Given the description of an element on the screen output the (x, y) to click on. 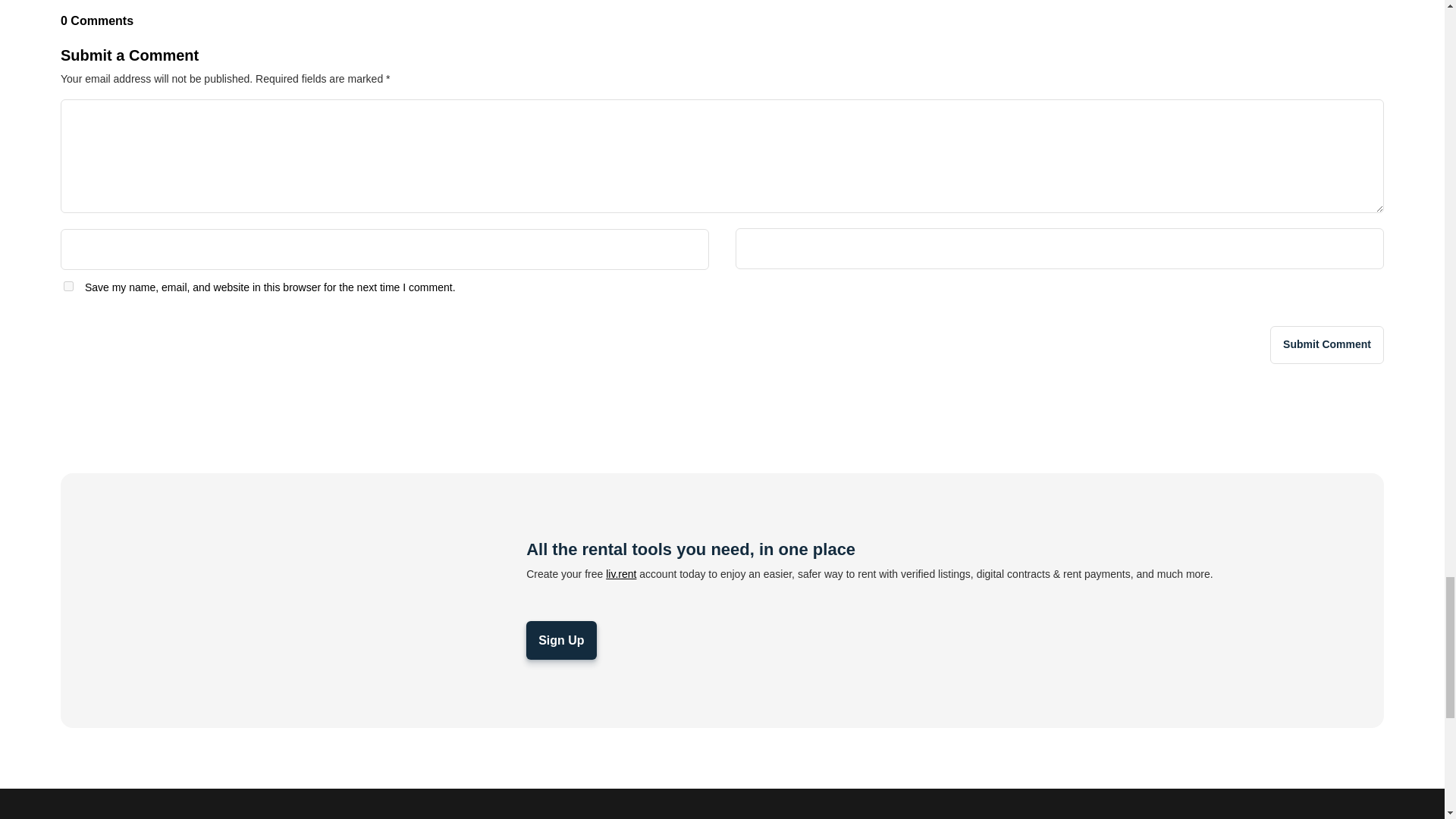
Employment verification (292, 600)
yes (69, 286)
